Given the description of an element on the screen output the (x, y) to click on. 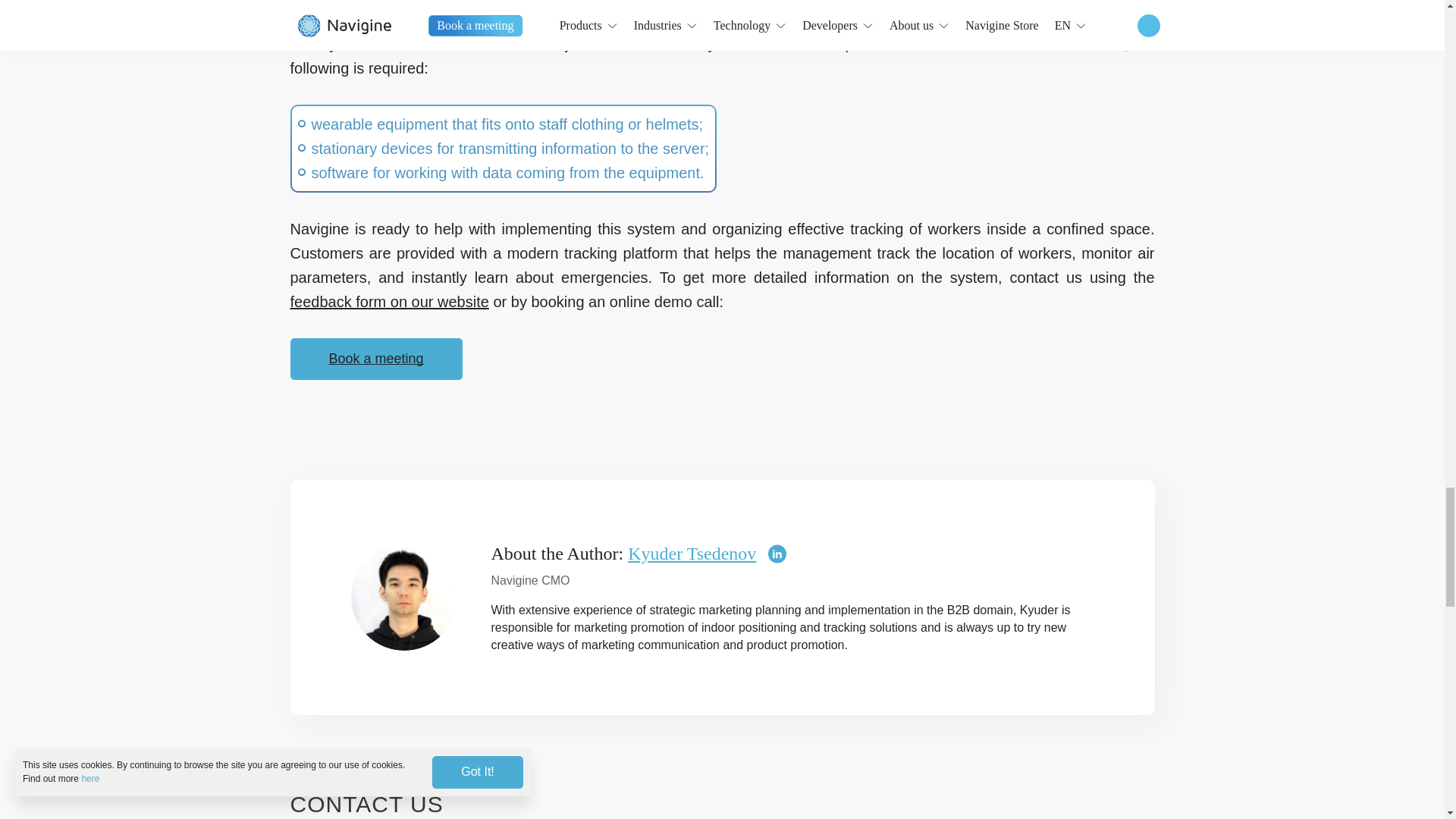
Navigine asset tracking demo (672, 19)
Fill Out the Form Now! (388, 301)
